Given the description of an element on the screen output the (x, y) to click on. 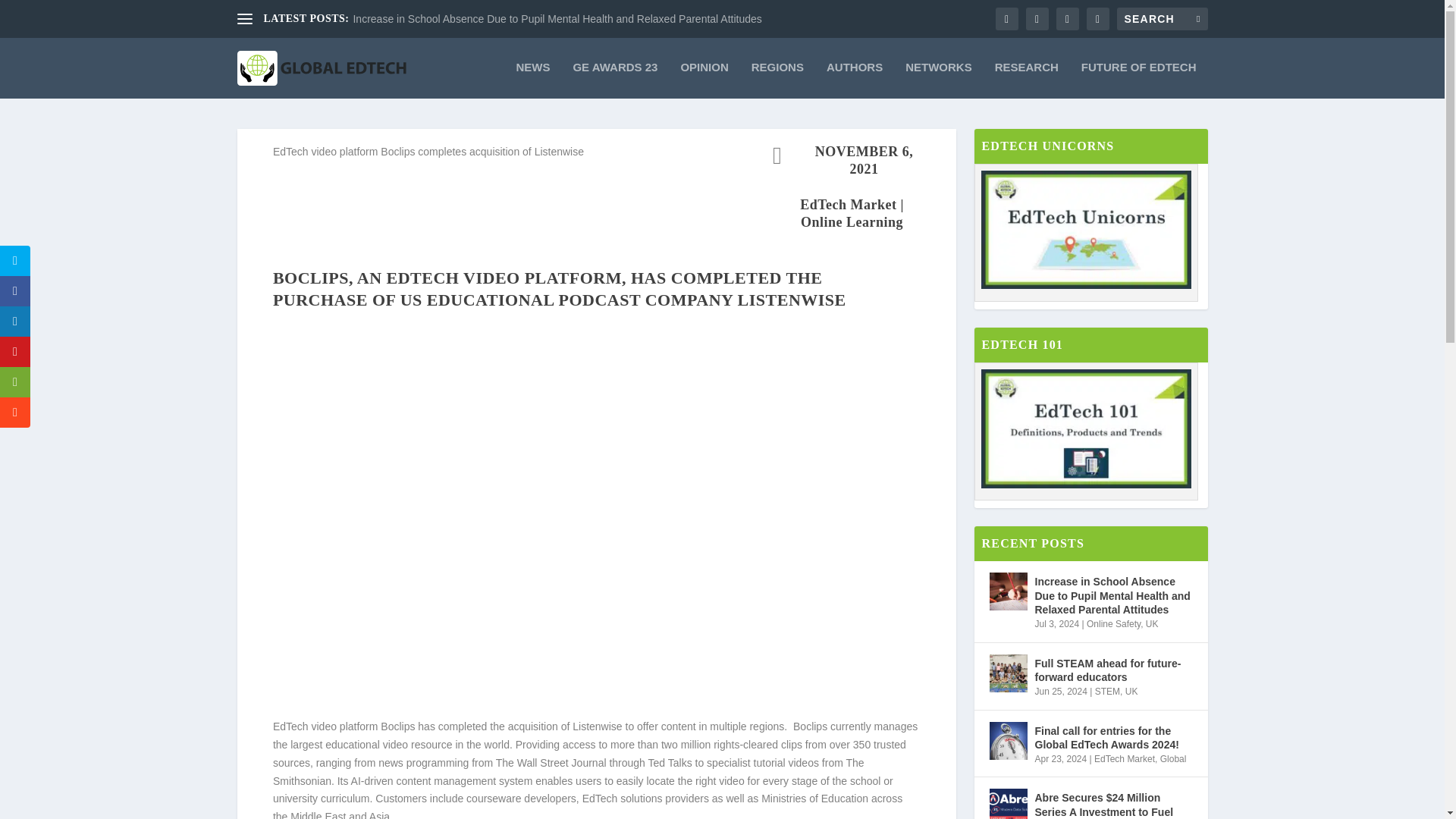
EdTech Market (847, 204)
REGIONS (777, 79)
OPINION (703, 79)
FUTURE OF EDTECH (1138, 79)
Online Learning (851, 222)
AUTHORS (854, 79)
NEWS (532, 79)
Search for: (1161, 18)
NETWORKS (938, 79)
